Given the description of an element on the screen output the (x, y) to click on. 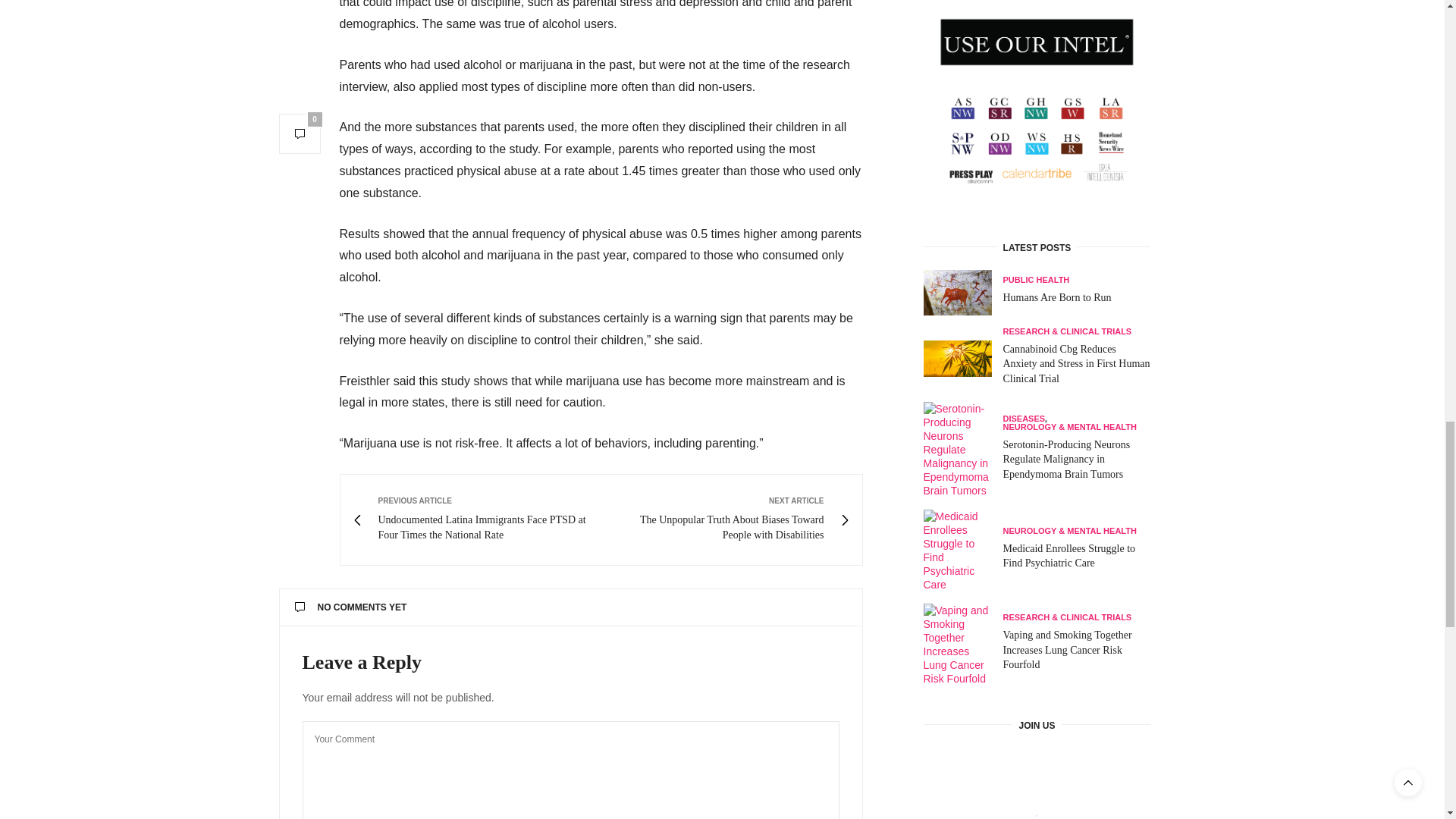
NO COMMENTS YET (570, 607)
